Given the description of an element on the screen output the (x, y) to click on. 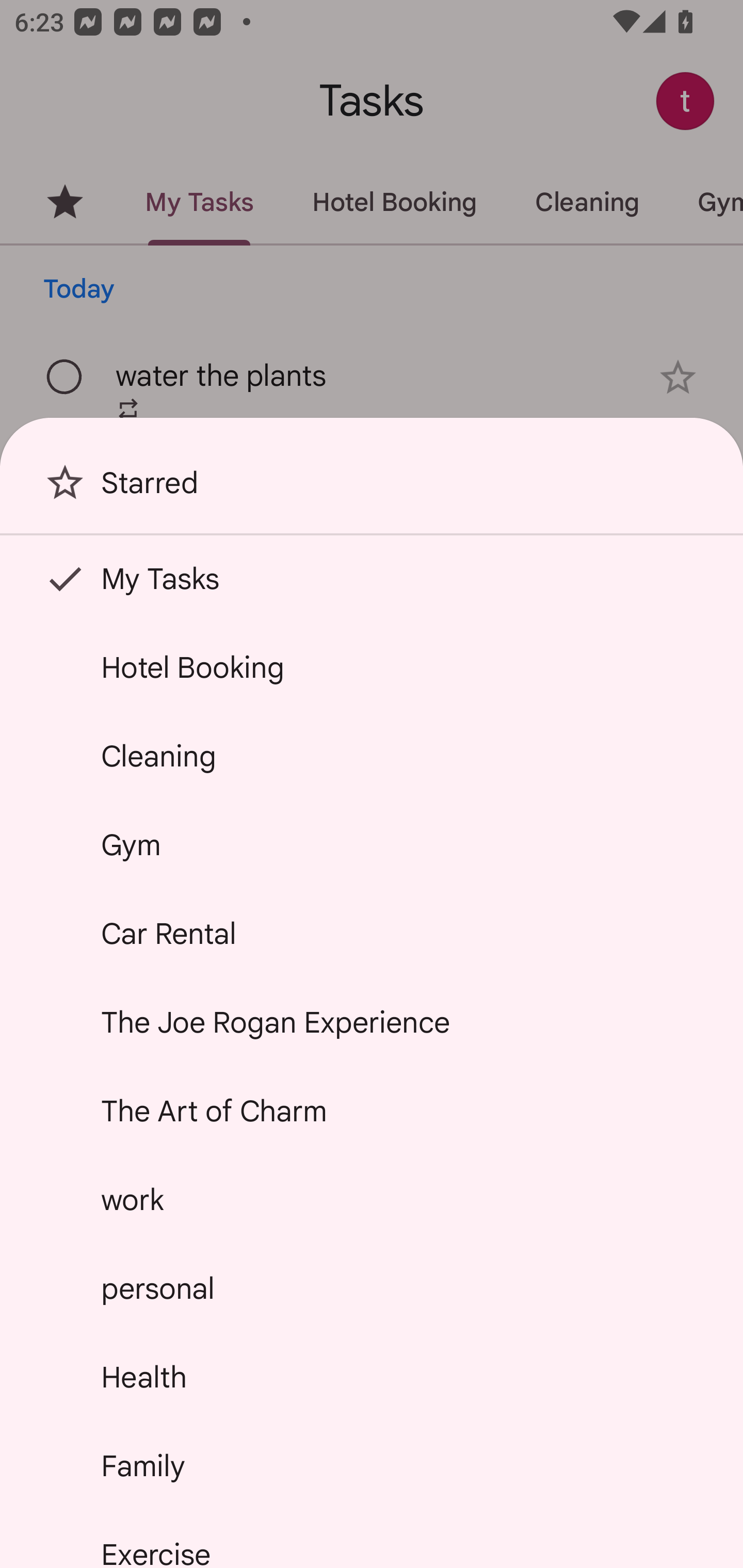
Starred (371, 489)
My Tasks (371, 578)
Hotel Booking (371, 667)
Cleaning (371, 756)
Gym (371, 844)
Car Rental (371, 933)
The Joe Rogan Experience (371, 1022)
The Art of Charm (371, 1110)
work (371, 1200)
personal (371, 1287)
Health (371, 1377)
Family (371, 1465)
Exercise (371, 1539)
